Given the description of an element on the screen output the (x, y) to click on. 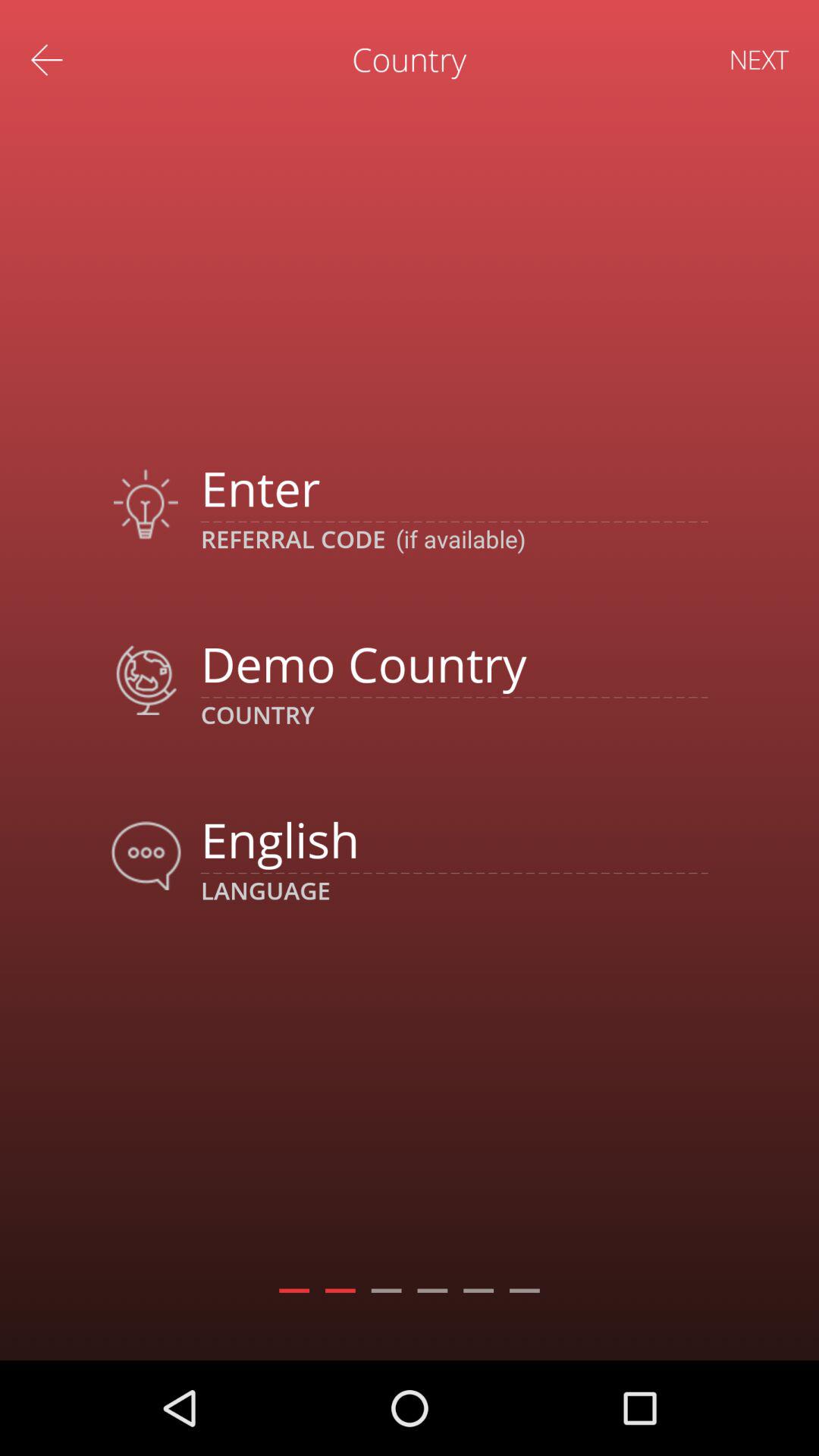
swipe to the demo country app (454, 663)
